Given the description of an element on the screen output the (x, y) to click on. 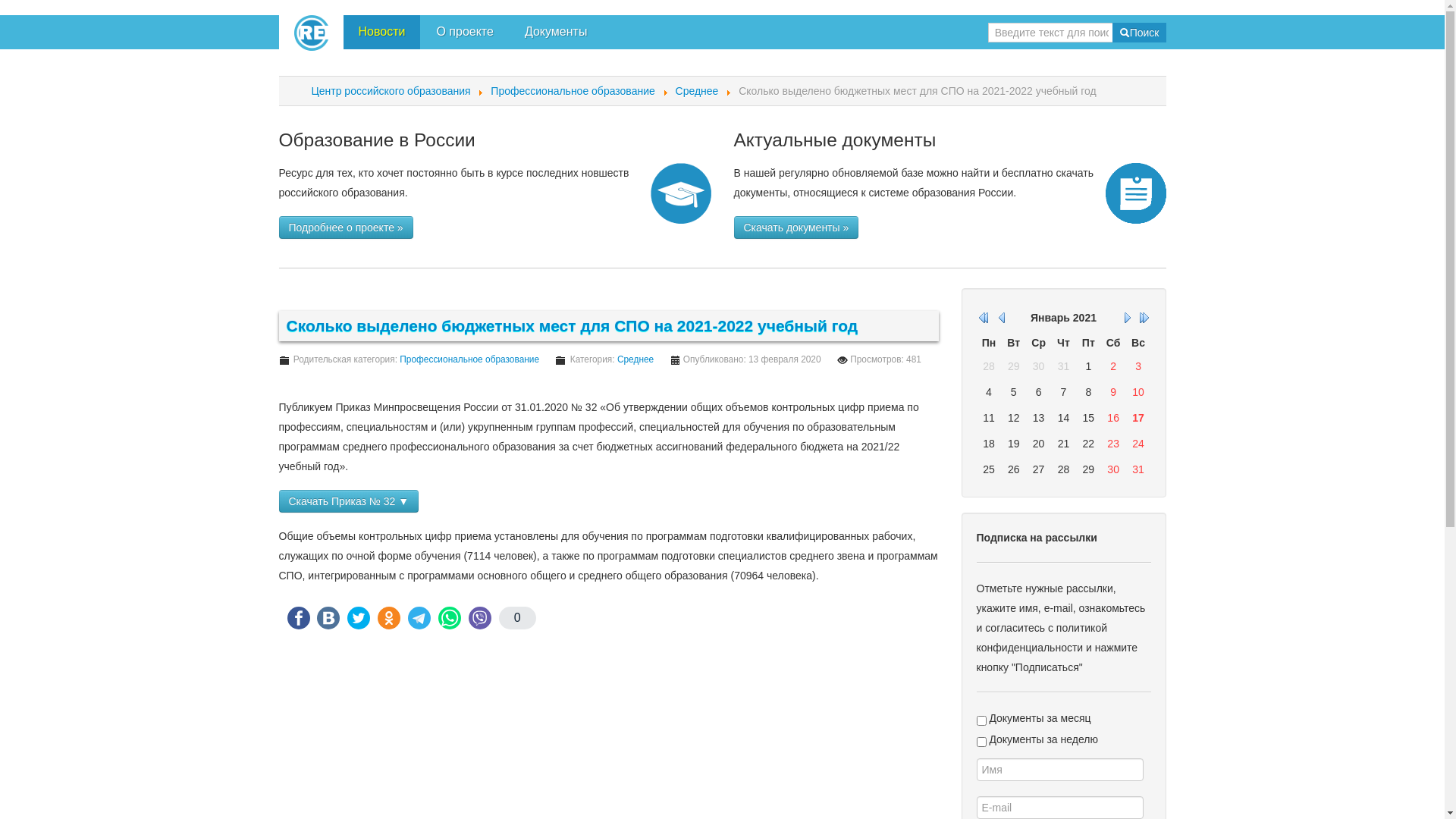
WhatsApp Element type: hover (449, 617)
Twitter Element type: hover (358, 617)
FaceBook Element type: hover (297, 617)
Telegram Element type: hover (418, 617)
Viber Element type: hover (479, 617)
0 Element type: text (517, 617)
